Given the description of an element on the screen output the (x, y) to click on. 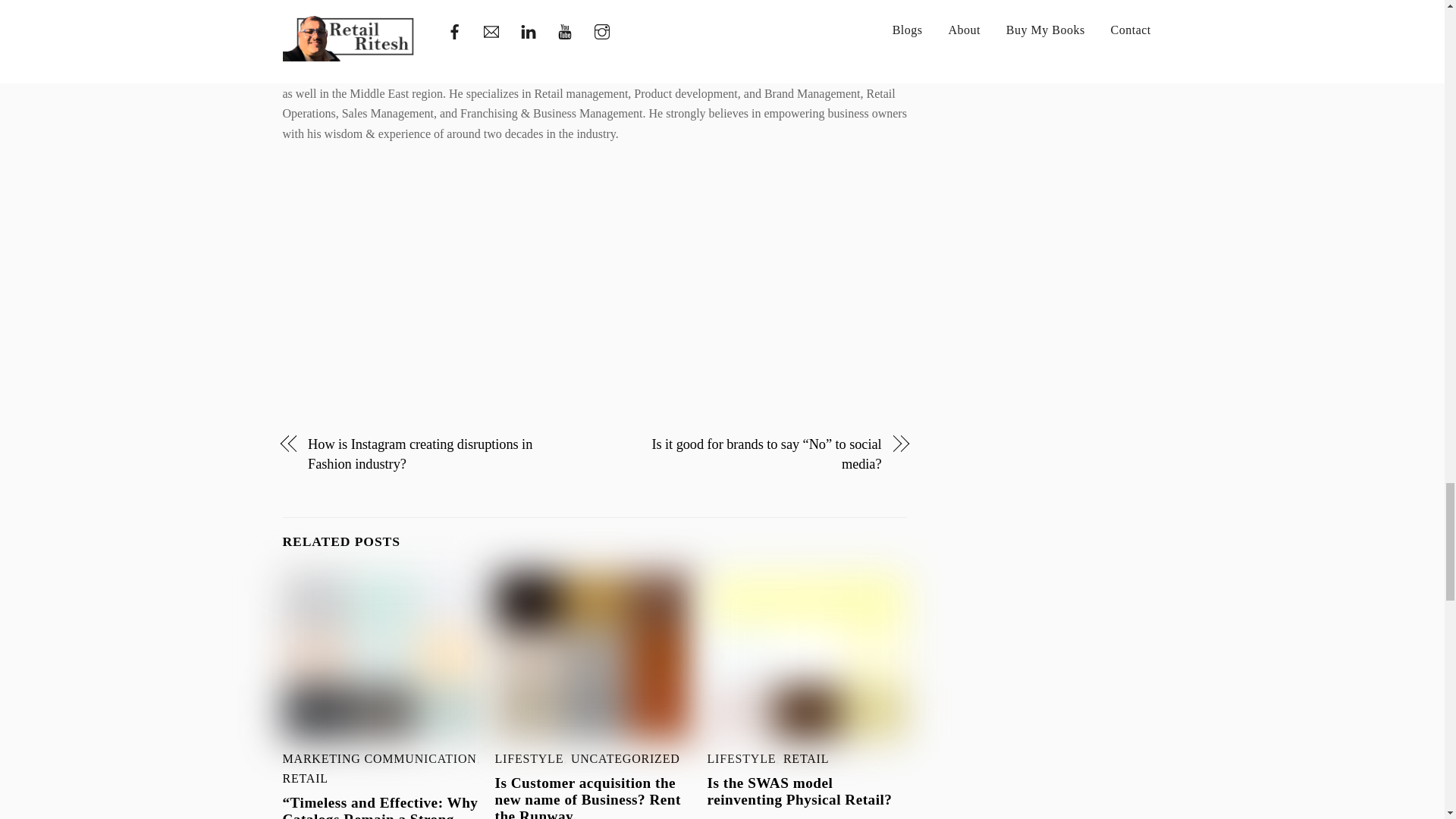
Is the SWAS model reinventing Physical Retail? (799, 790)
amazon fashion collaboration with rent the runway (595, 656)
MARKETING COMMUNICATION (379, 758)
UNCATEGORIZED (624, 758)
RETAIL (805, 758)
RETAIL (304, 778)
Is SWAS model reinventing Physical retail? (807, 656)
LIFESTYLE (529, 758)
clothing-catalog-template-2 (381, 656)
How is Instagram creating disruptions in Fashion industry? (441, 454)
LIFESTYLE (741, 758)
